Given the description of an element on the screen output the (x, y) to click on. 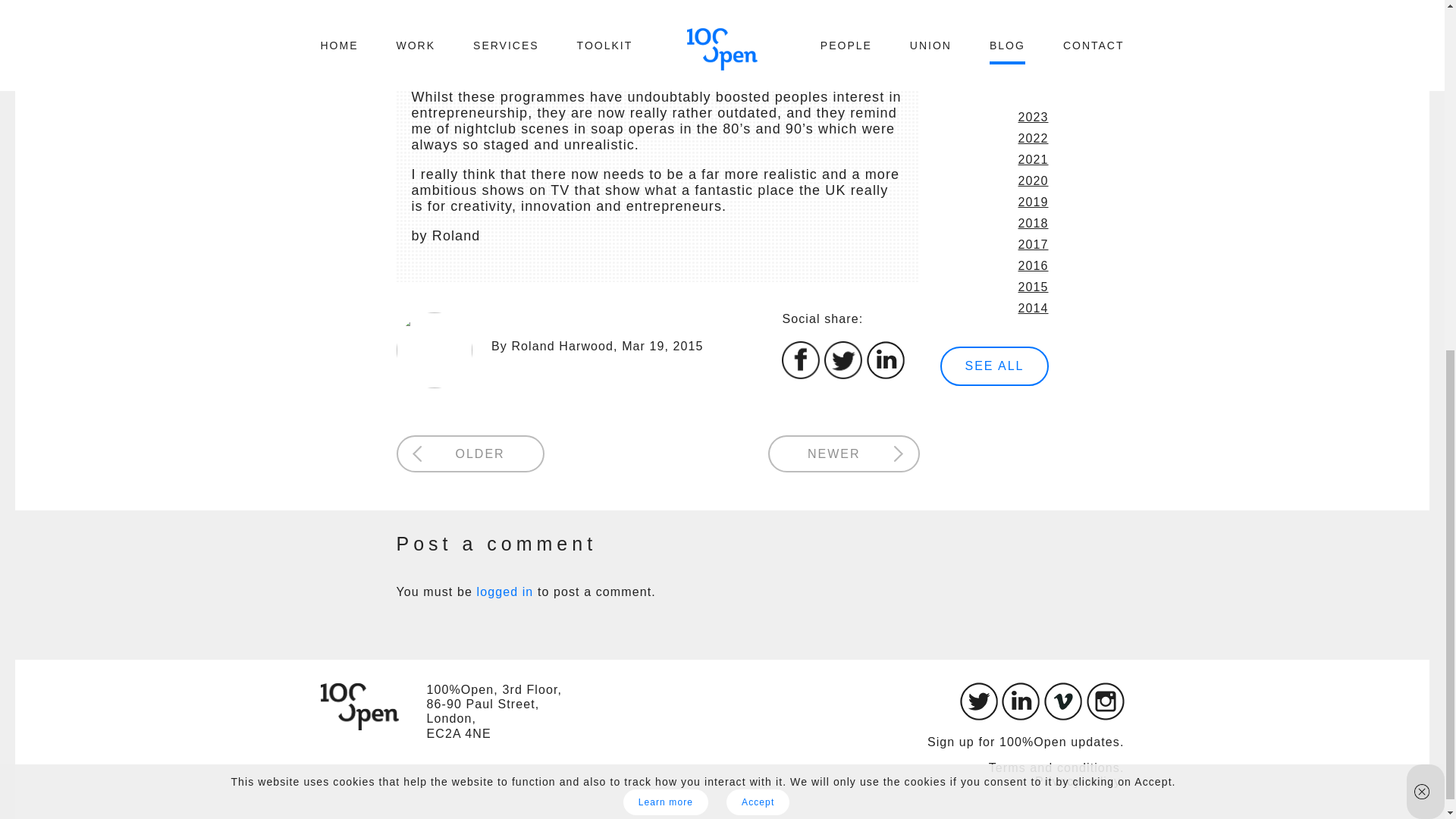
See us on Instagram (1105, 716)
2021 (1032, 159)
SEE ALL (994, 365)
Find us on Twitter (978, 716)
2015 (1032, 286)
2018 (1032, 223)
2022 (1032, 137)
Connect with us on LinkedIn (1020, 716)
Share on Linkedin (885, 374)
Share on Facebook (800, 374)
